Given the description of an element on the screen output the (x, y) to click on. 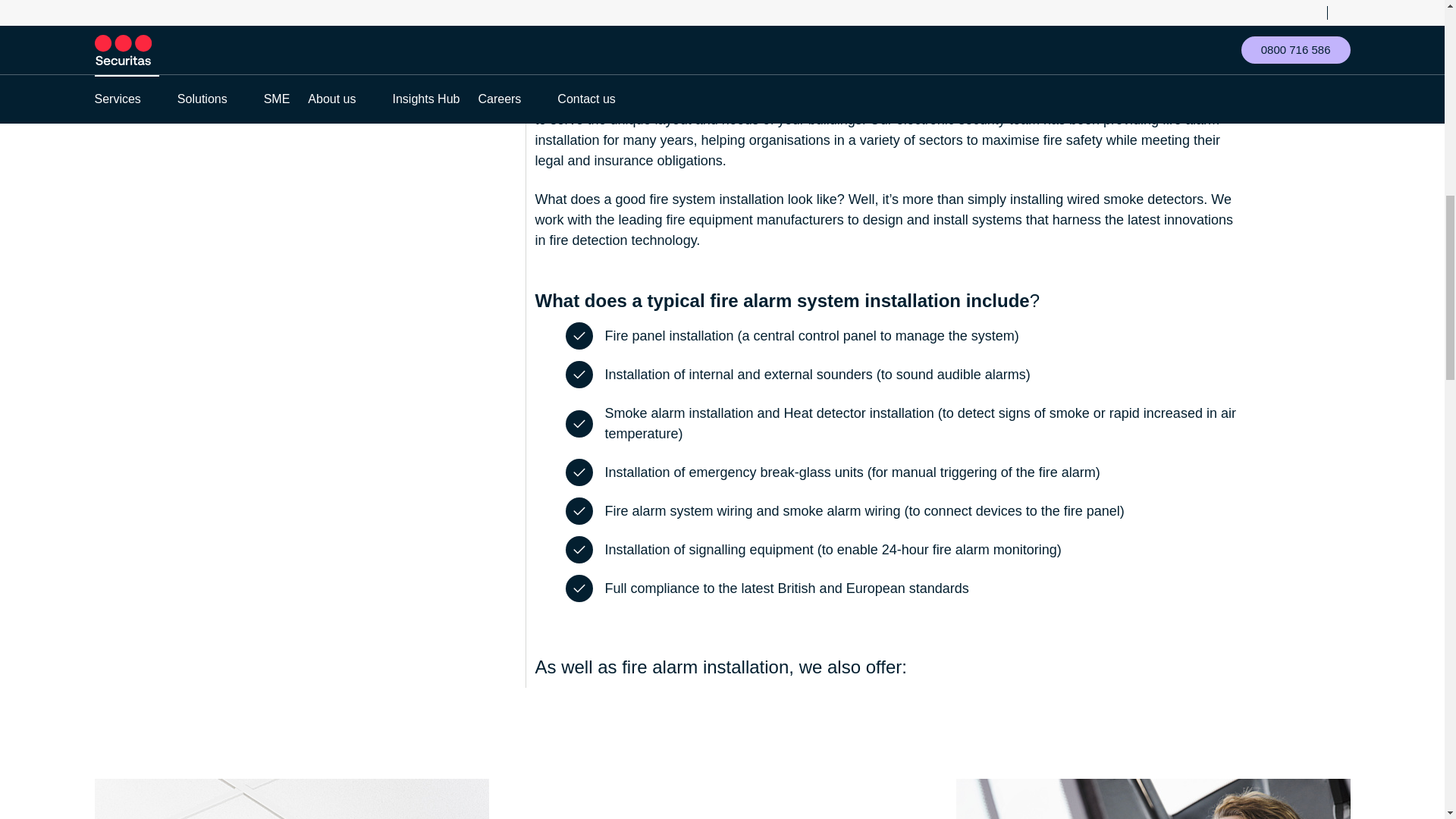
Smoke alarm being tested (290, 798)
Fire and Safety by Securitas - 2400 x 1600.png (1152, 798)
